Given the description of an element on the screen output the (x, y) to click on. 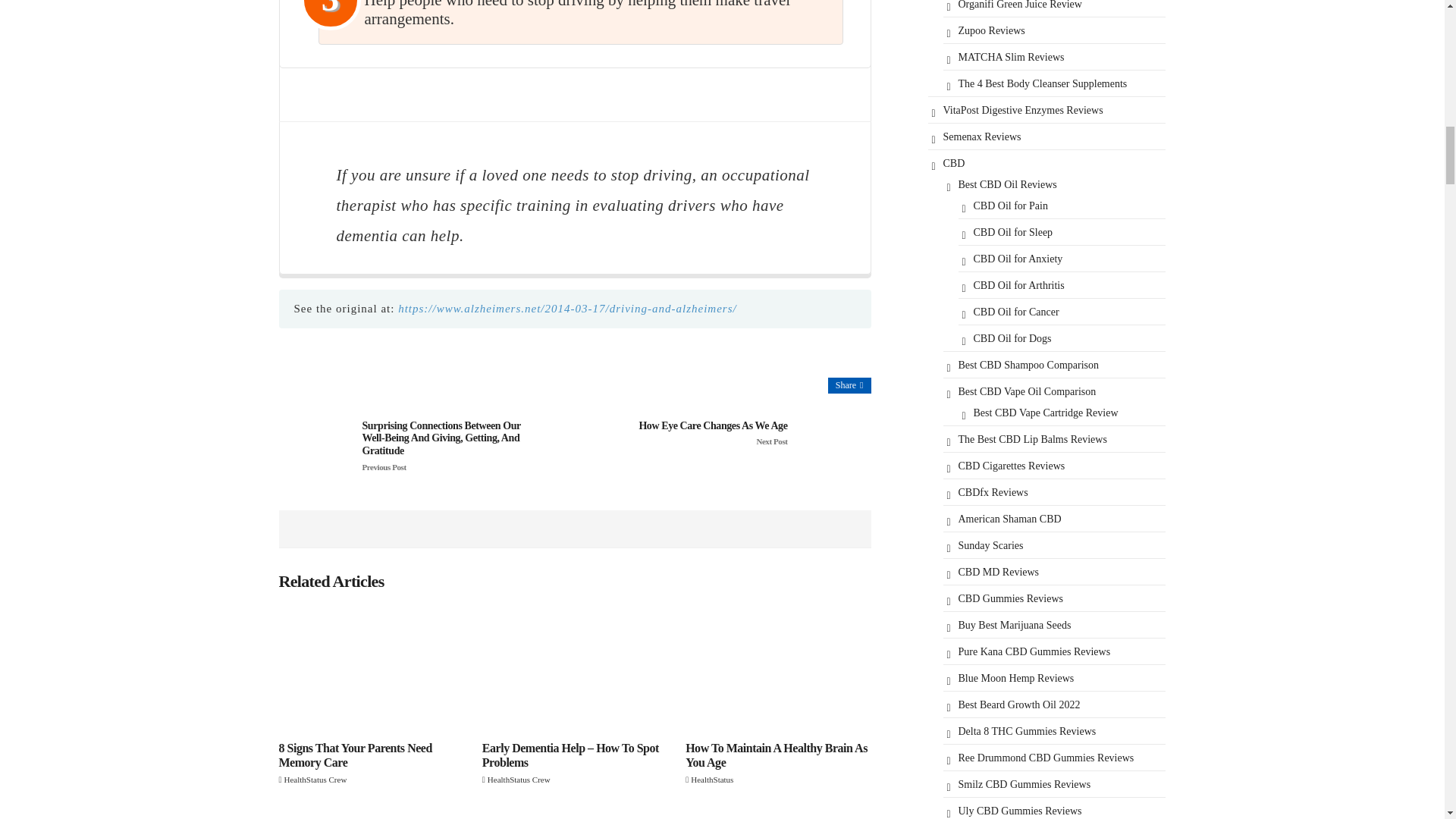
5 Alternatives That May Help Improve Mental Performance (371, 814)
8 Signs That Your Parents Need Memory Care (371, 668)
How To Maintain A Healthy Brain As You Age (777, 668)
